Given the description of an element on the screen output the (x, y) to click on. 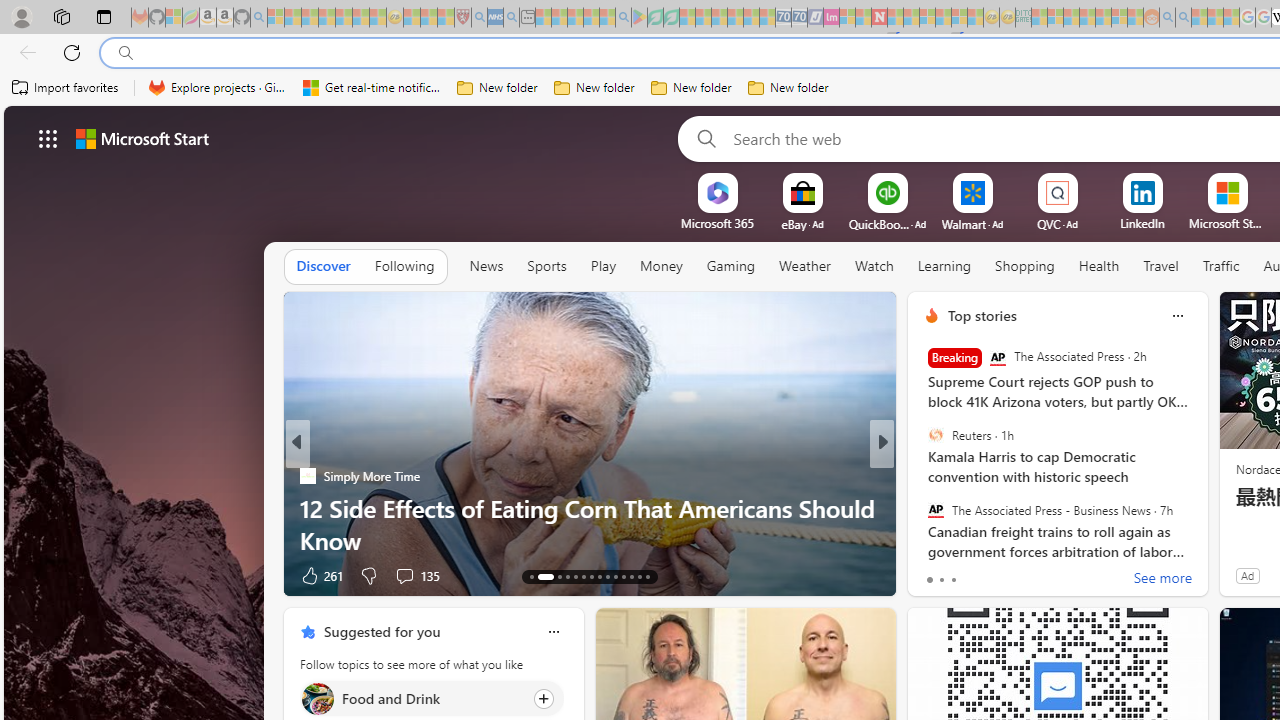
45 Like (934, 574)
Search icon (125, 53)
tab-0 (928, 579)
AutomationID: tab-18 (582, 576)
364 Like (936, 574)
Dagens News (US) (923, 507)
69 Like (934, 574)
